Given the description of an element on the screen output the (x, y) to click on. 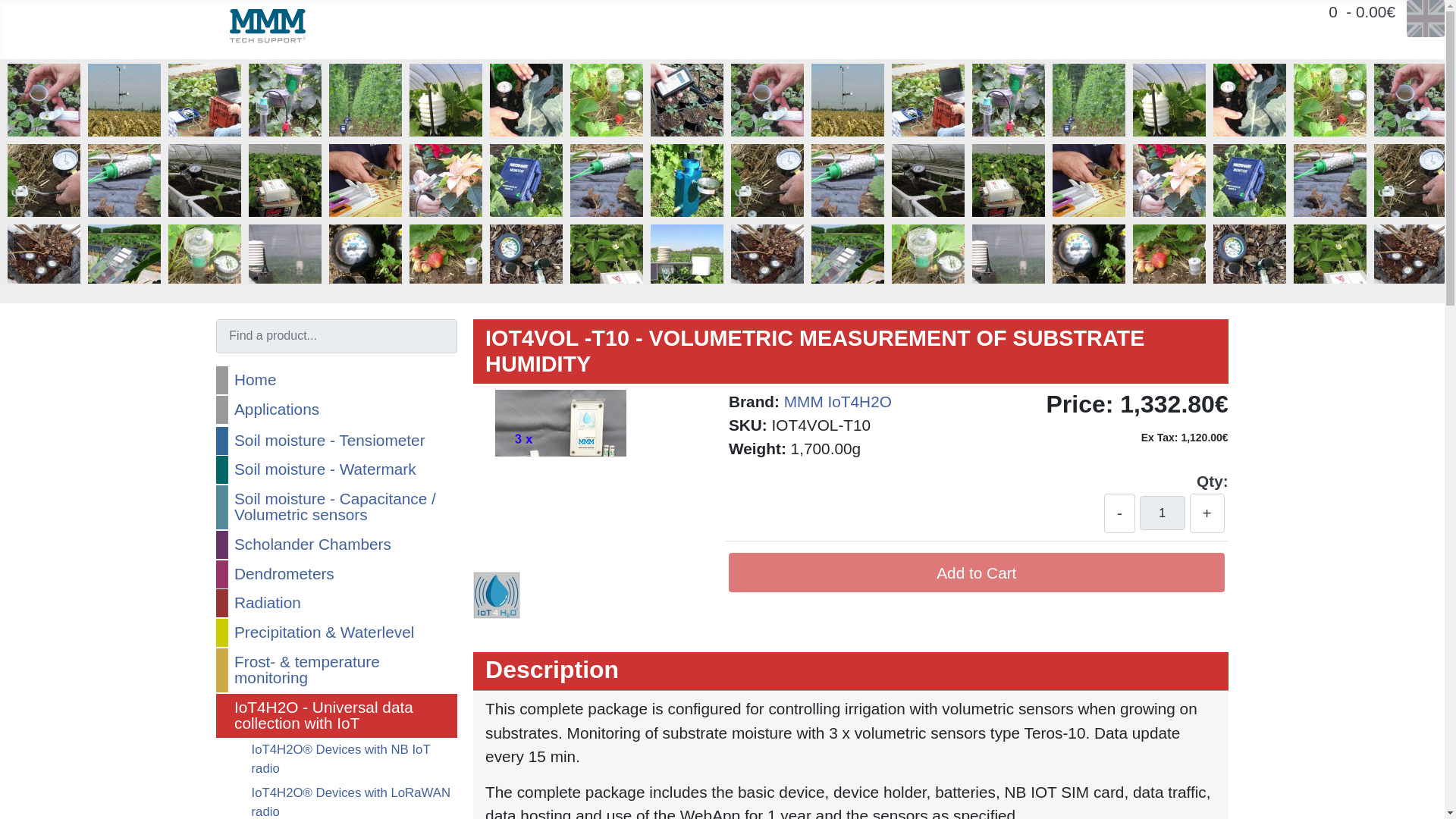
Scholander Chambers (336, 544)
1 (1162, 512)
Soil moisture - Tensiometer (336, 440)
IoT4Vol -T10 - volumetric measurement of substrate humidity (496, 595)
Radiation (336, 602)
Soil moisture - Watermark (336, 469)
Dendrometers (336, 574)
Applications (336, 409)
Home (336, 379)
IoT4H2O - Universal data collection with IoT (336, 715)
